Given the description of an element on the screen output the (x, y) to click on. 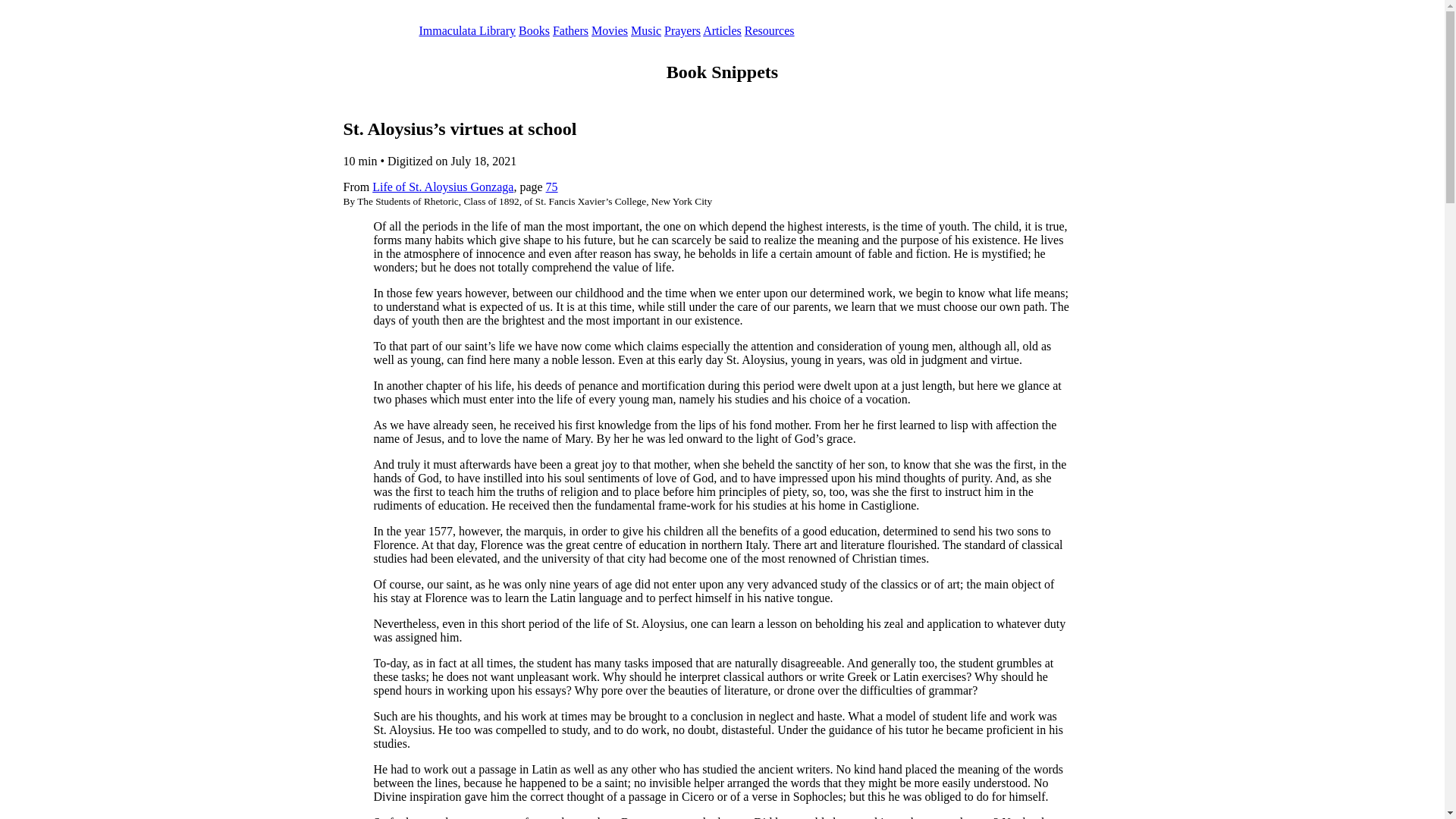
Books (534, 30)
Fathers (570, 30)
Prayers (681, 30)
Life of St. Aloysius Gonzaga (442, 186)
Immaculata Library (467, 30)
Resources (769, 30)
Articles (722, 30)
75 (551, 186)
Movies (609, 30)
Music (645, 30)
